Given the description of an element on the screen output the (x, y) to click on. 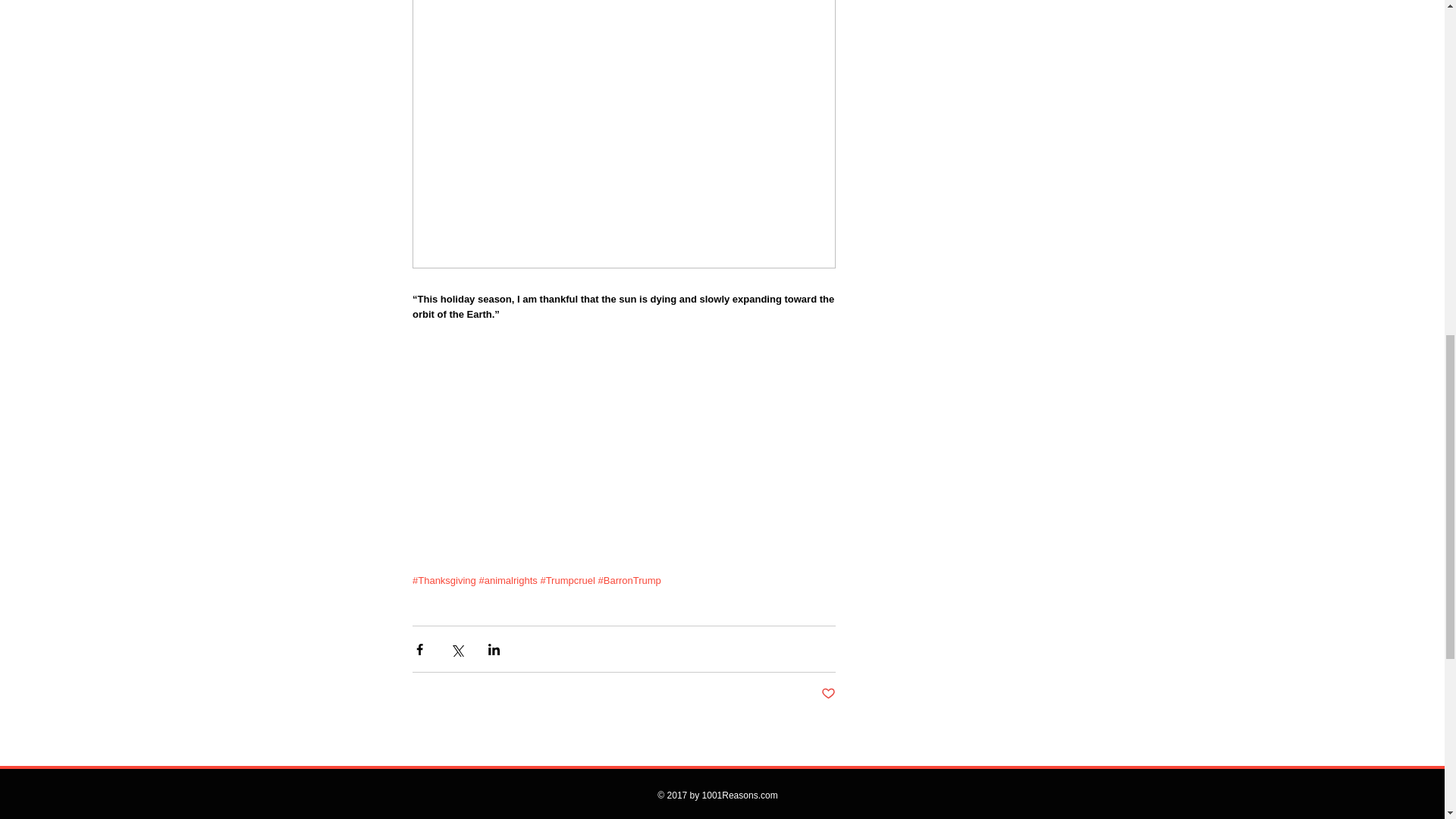
Post not marked as liked (827, 693)
